Given the description of an element on the screen output the (x, y) to click on. 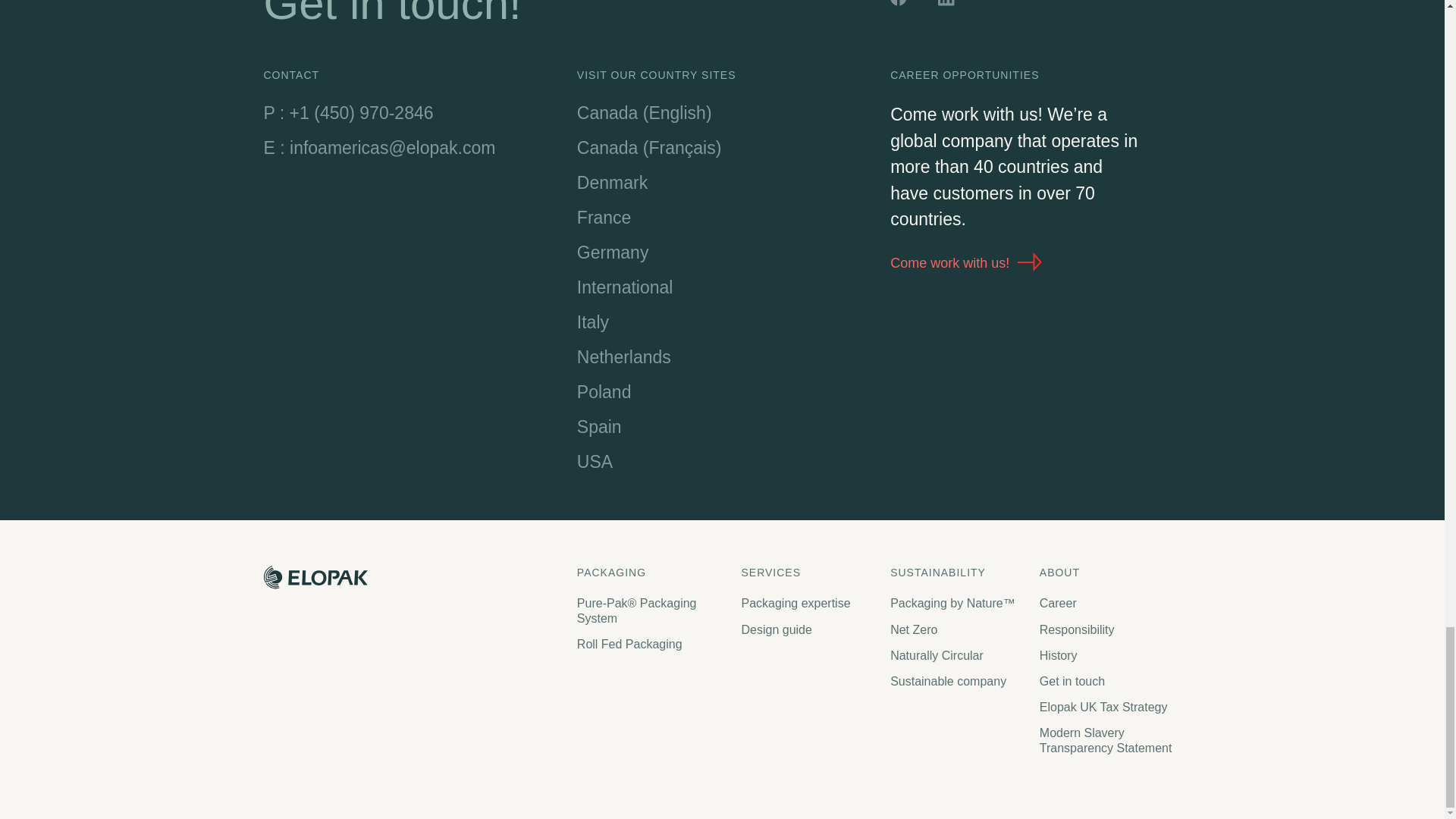
Facebook-icon (900, 5)
Packaging (651, 572)
LinkedIn (948, 5)
Services (808, 572)
